Given the description of an element on the screen output the (x, y) to click on. 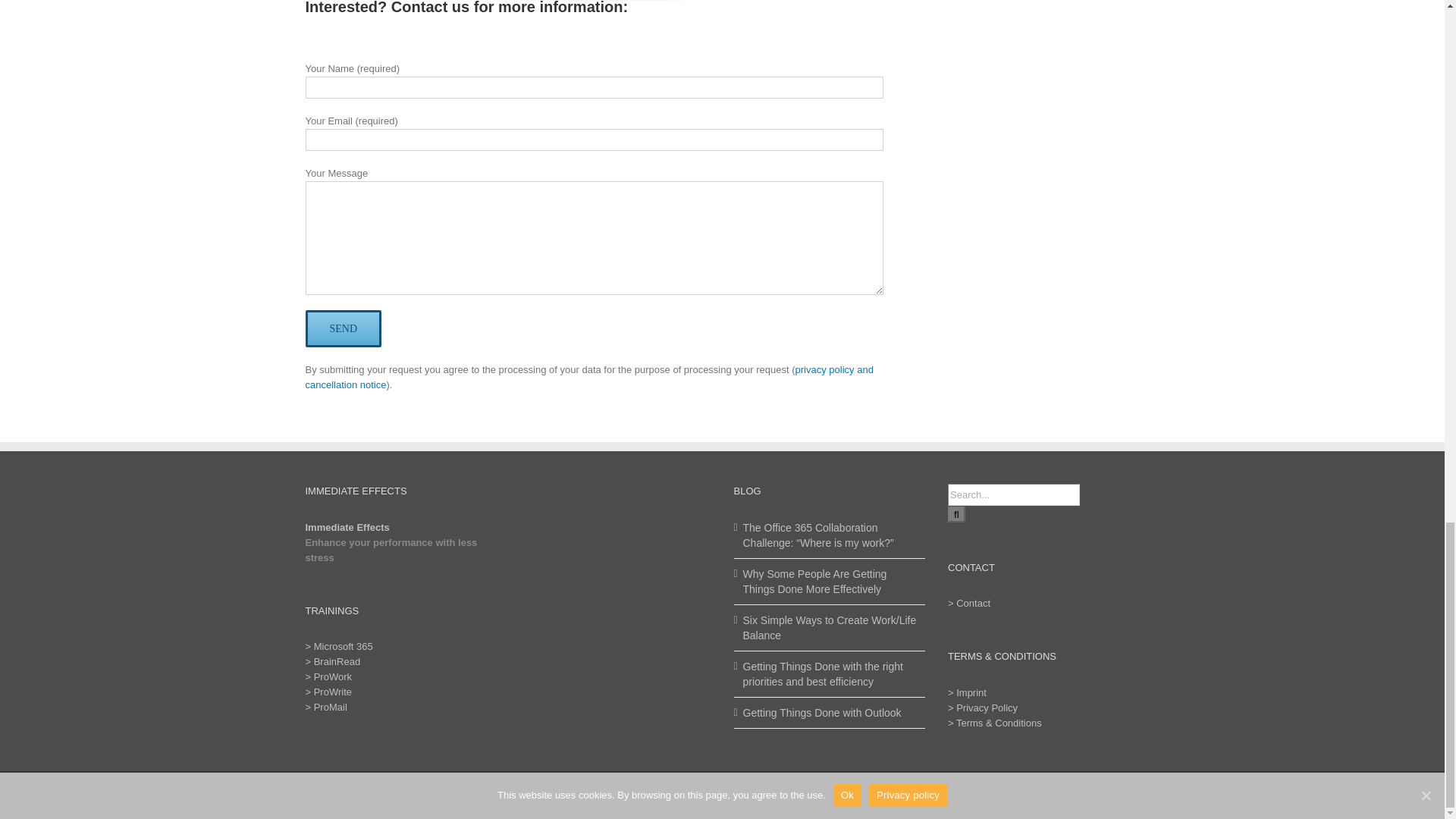
Send (342, 328)
Interested? Contact us for more information: (593, 15)
